Given the description of an element on the screen output the (x, y) to click on. 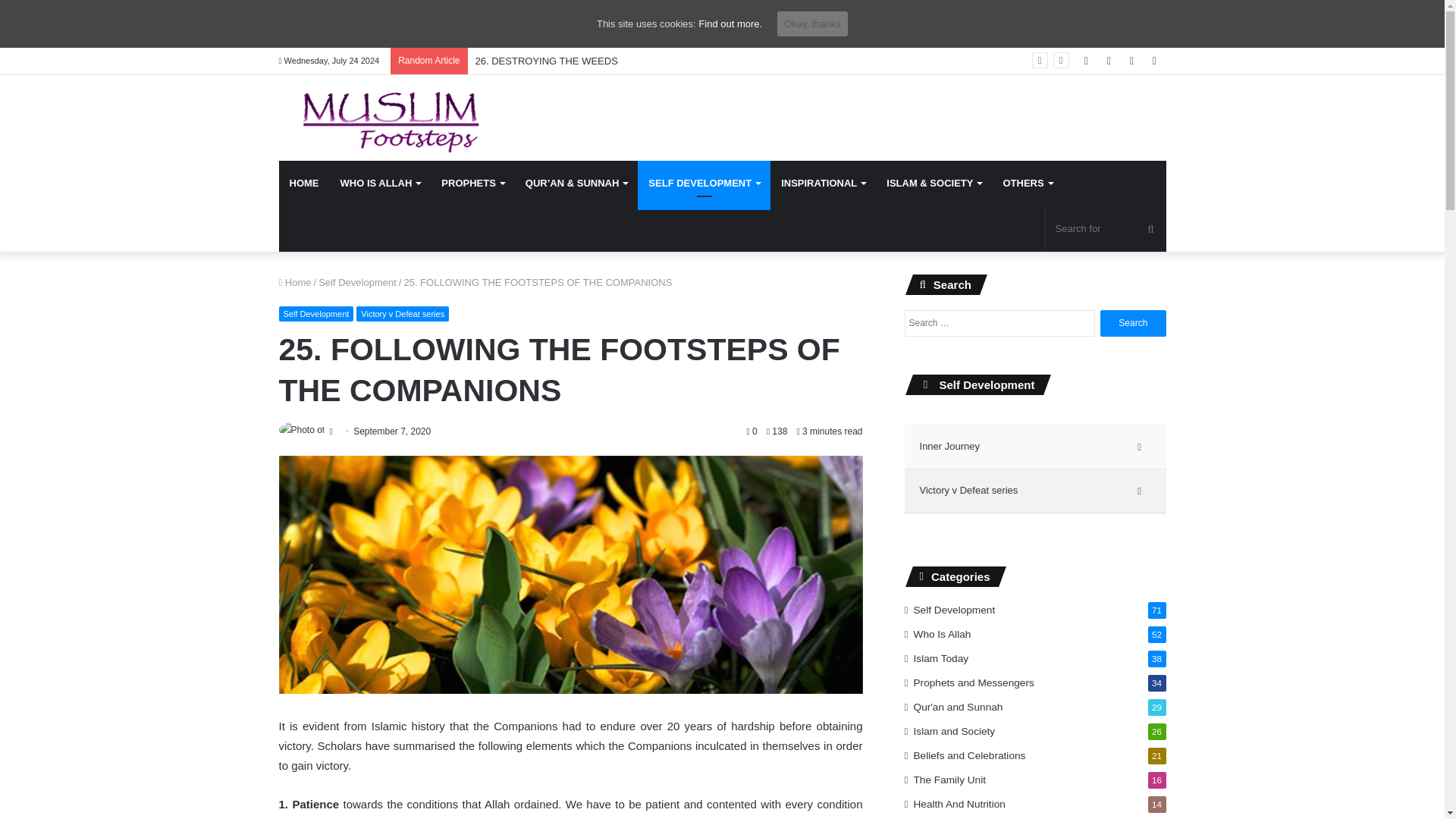
WHO IS ALLAH (379, 183)
26. DESTROYING THE WEEDS (546, 60)
PROPHETS (472, 183)
Search (1133, 323)
OTHERS (1026, 183)
HOME (304, 183)
Search (1133, 323)
MUSLIM FOOTSTEPS (381, 117)
Search for (1105, 228)
INSPIRATIONAL (823, 183)
SELF DEVELOPMENT (703, 183)
